Given the description of an element on the screen output the (x, y) to click on. 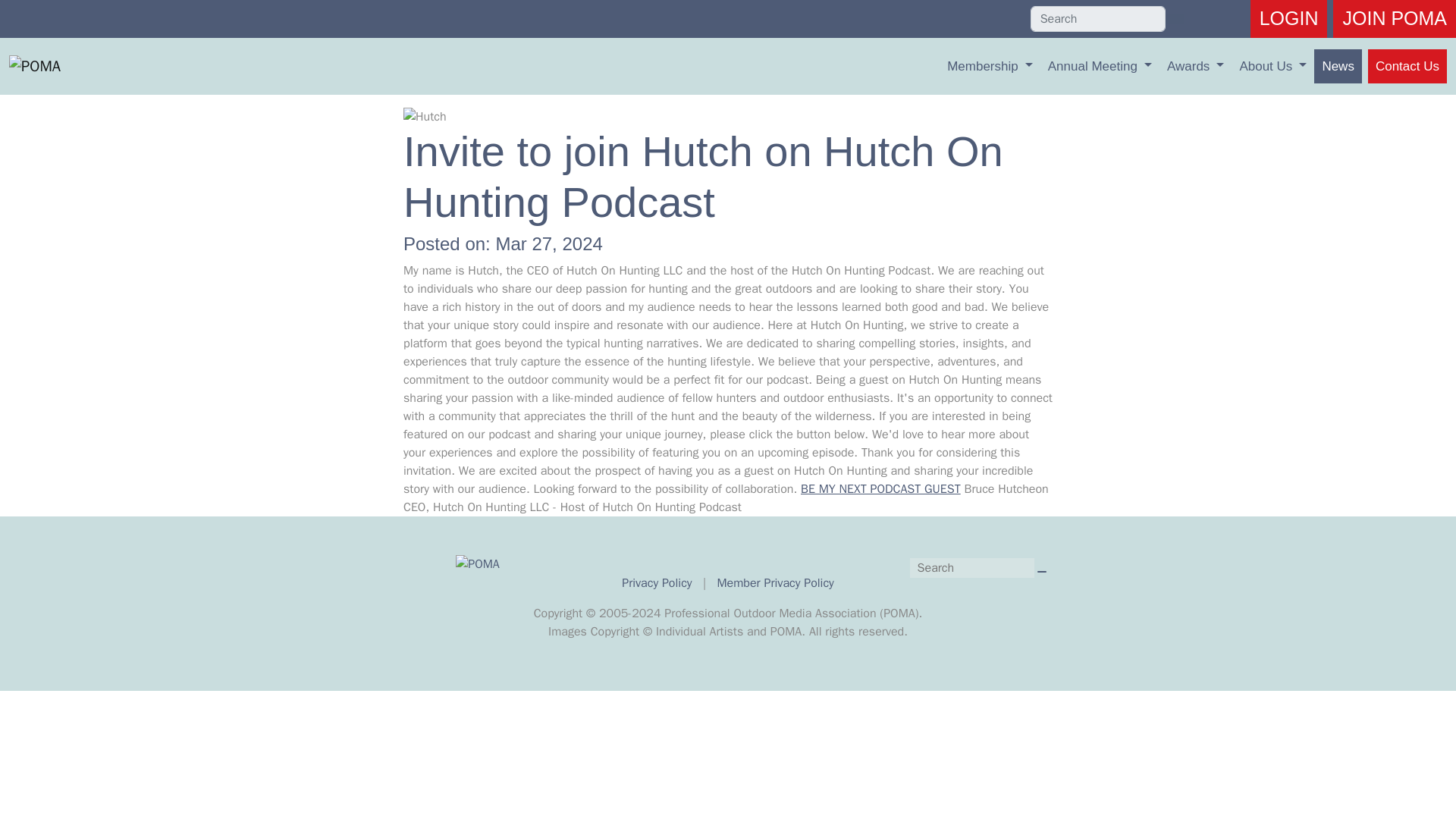
BE MY NEXT PODCAST GUEST (880, 488)
About Us (1272, 65)
Member Privacy Policy (774, 582)
Annual Meeting (1099, 65)
LOGIN (1288, 18)
Contact Us (1407, 65)
Membership (990, 65)
Awards (1194, 65)
Privacy Policy (658, 582)
News (1337, 65)
